Given the description of an element on the screen output the (x, y) to click on. 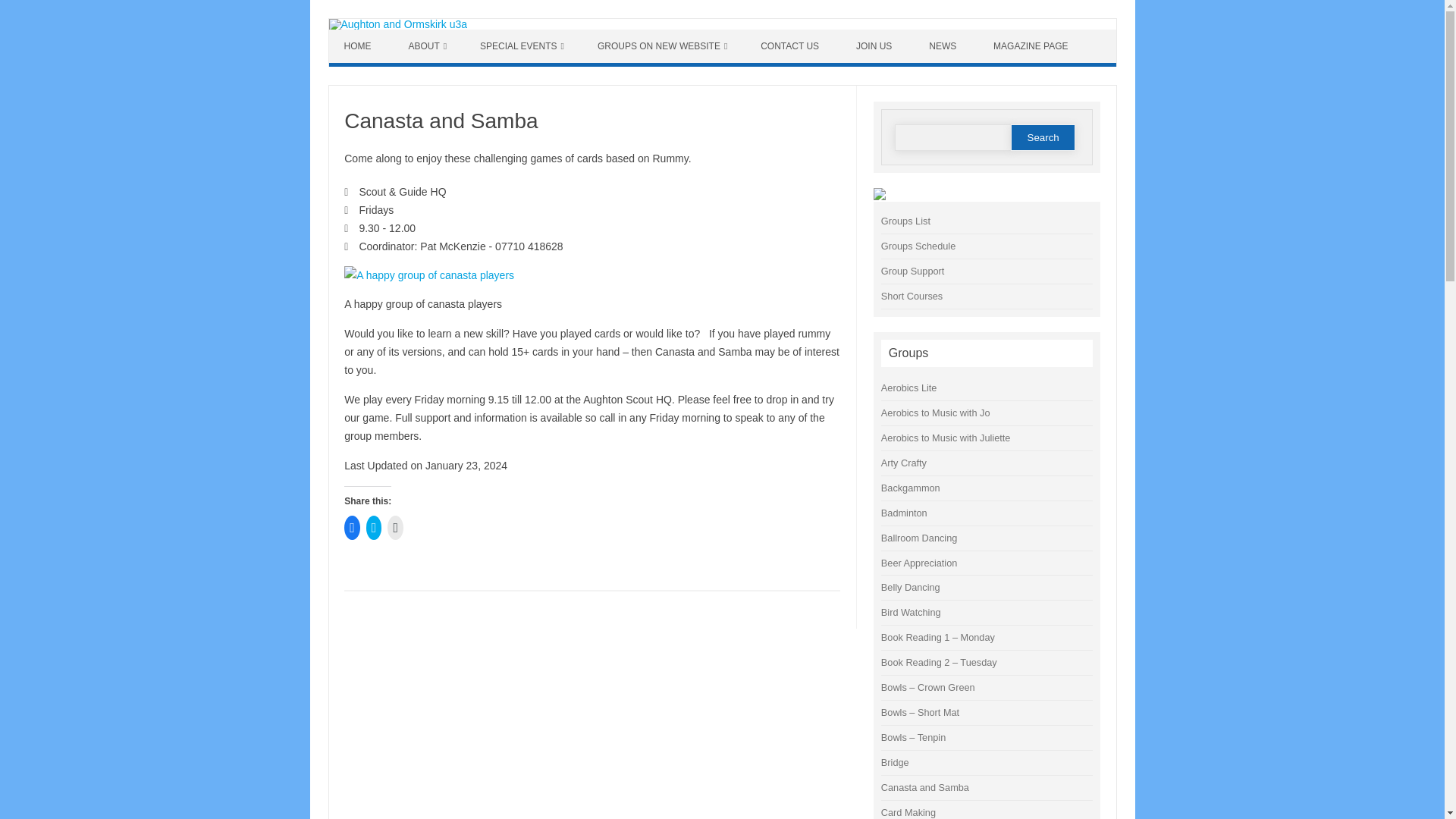
Search (1042, 137)
Click to share on Twitter (373, 527)
Aughton and Ormskirk u3a (398, 24)
CONTACT US (791, 46)
Contact (345, 246)
Group Support (912, 270)
HOME (359, 46)
Groups List (905, 220)
Search (1042, 137)
NEWS (944, 46)
Venue (345, 192)
ABOUT (427, 46)
Day (345, 210)
GROUPS ON NEW WEBSITE (662, 46)
Skip to content (363, 34)
